Given the description of an element on the screen output the (x, y) to click on. 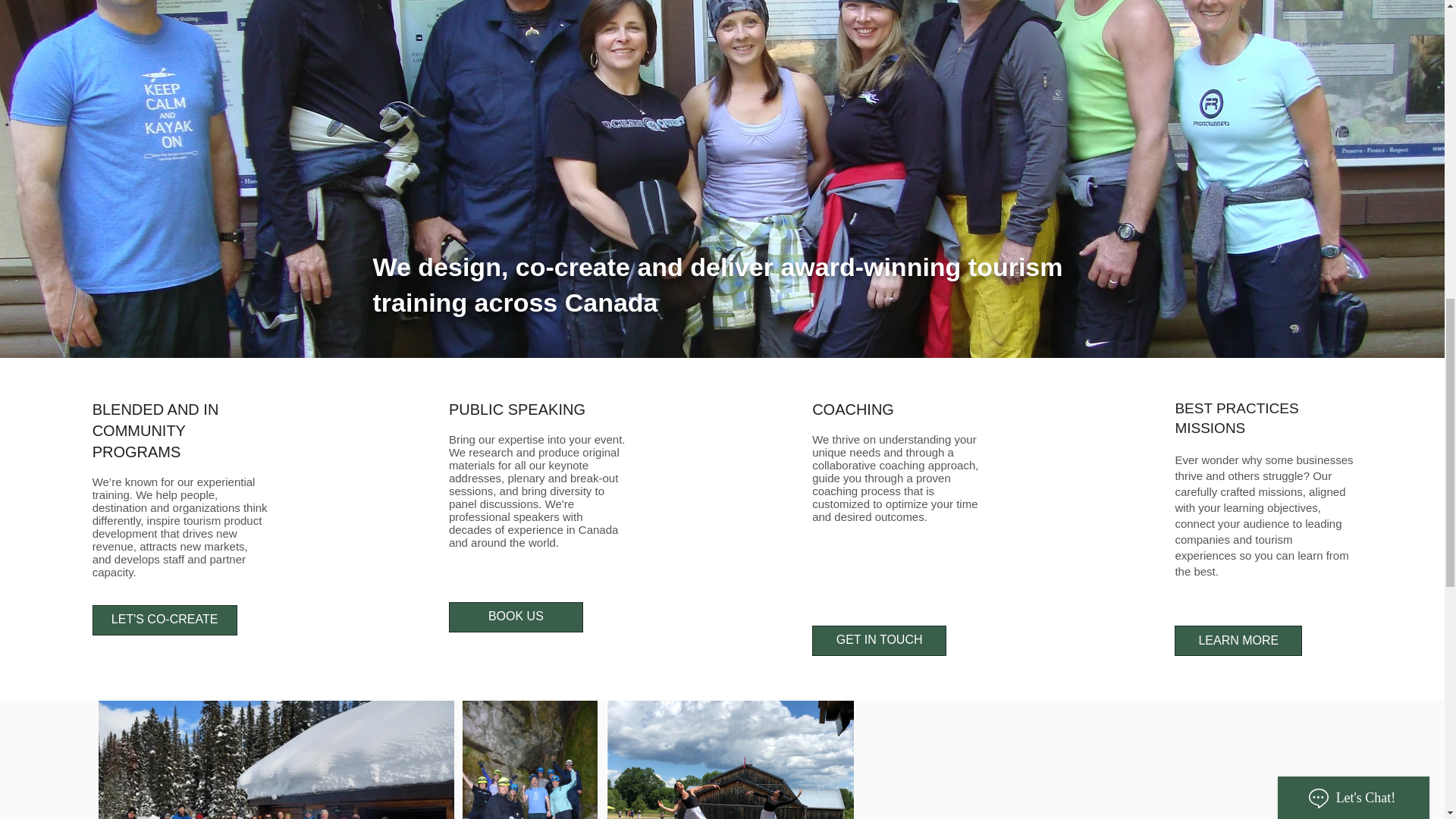
LET'S CO-CREATE (165, 620)
LEARN MORE (1237, 640)
GET IN TOUCH (879, 640)
BOOK US (515, 616)
